Given the description of an element on the screen output the (x, y) to click on. 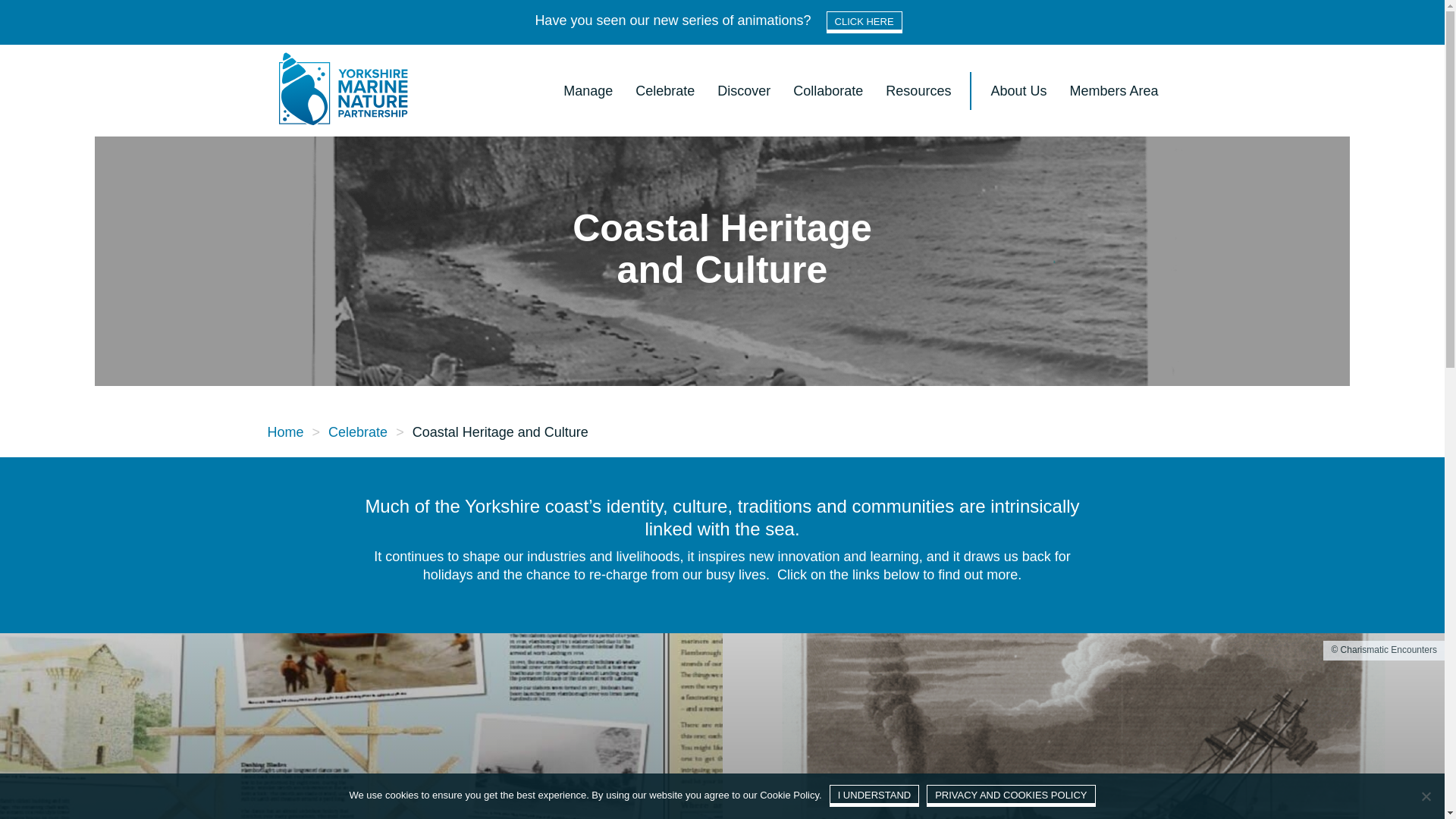
Manage (587, 89)
CLICK HERE (864, 22)
No (1425, 795)
